Given the description of an element on the screen output the (x, y) to click on. 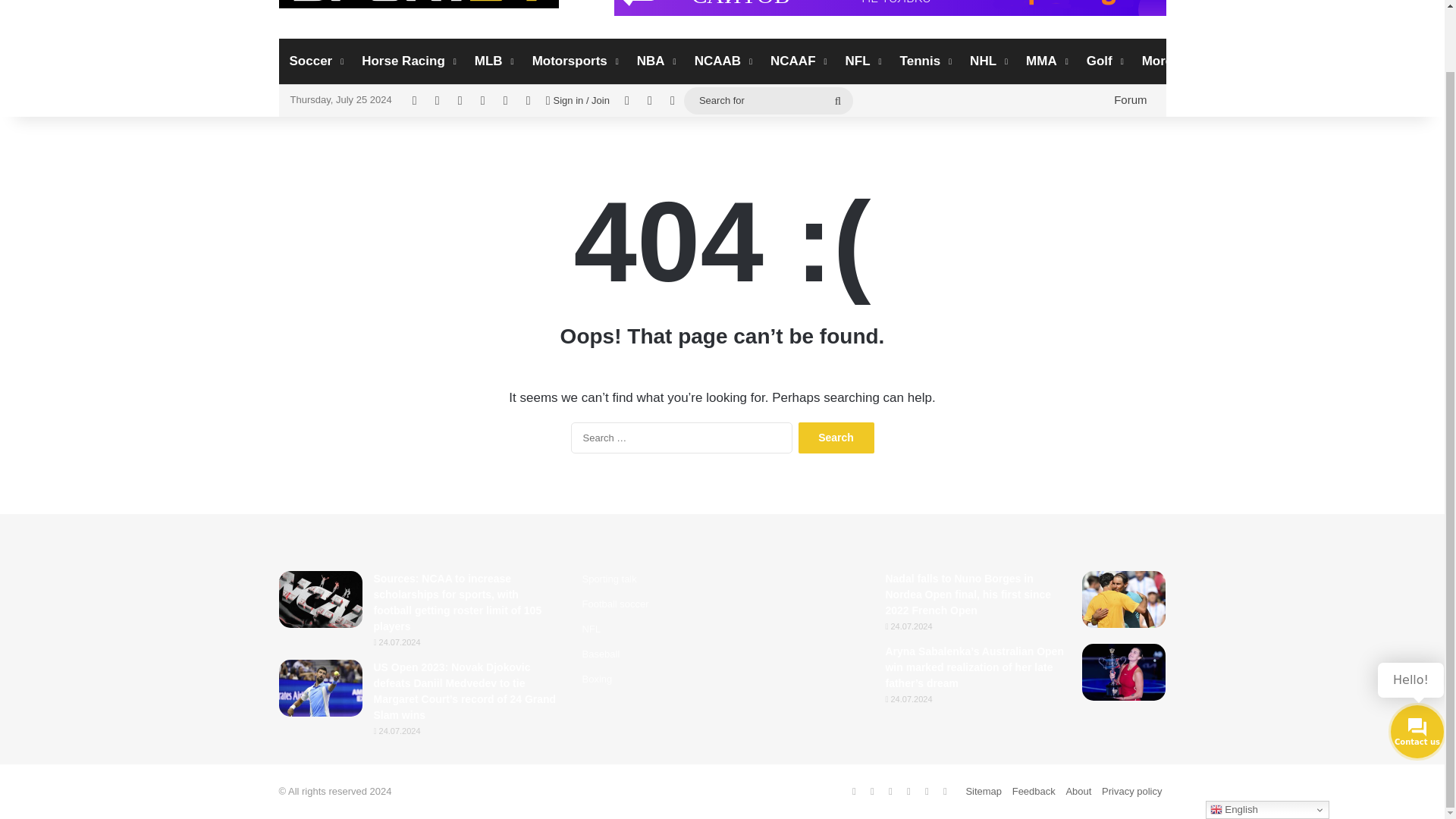
Soccer (315, 61)
Random Article (627, 100)
Horse Racing (407, 61)
Search (835, 437)
MLB (492, 61)
NBA (655, 61)
Motorsports (573, 61)
Switch skin (672, 100)
Search (835, 437)
Search for (768, 99)
